Given the description of an element on the screen output the (x, y) to click on. 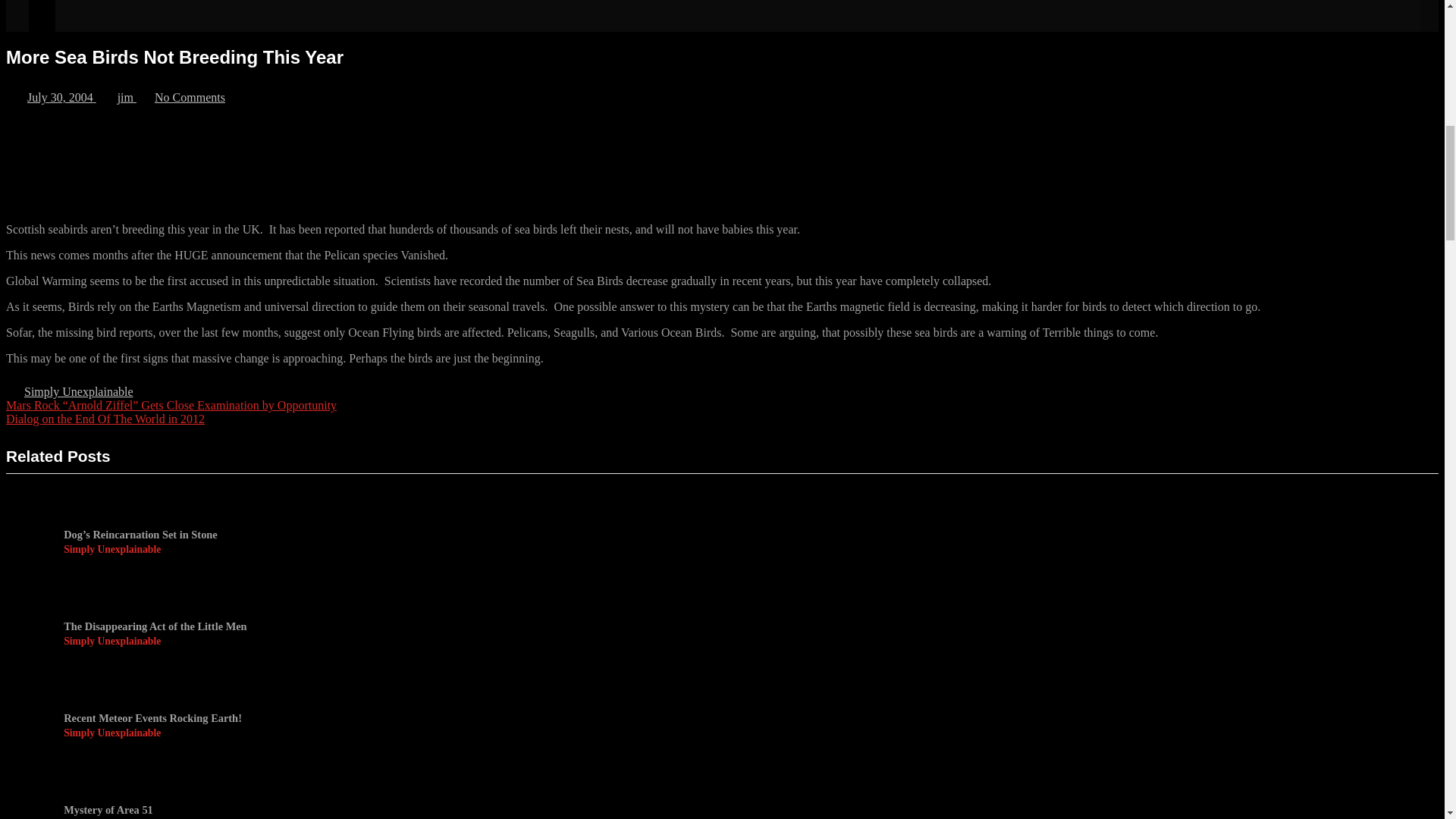
The Disappearing Act of the Little Men (155, 626)
Simply Unexplainable (140, 549)
Simply Unexplainable (78, 391)
Recent Meteor Events Rocking Earth! (126, 97)
Simply Unexplainable (189, 97)
Mystery of Area 51 (61, 97)
